Given the description of an element on the screen output the (x, y) to click on. 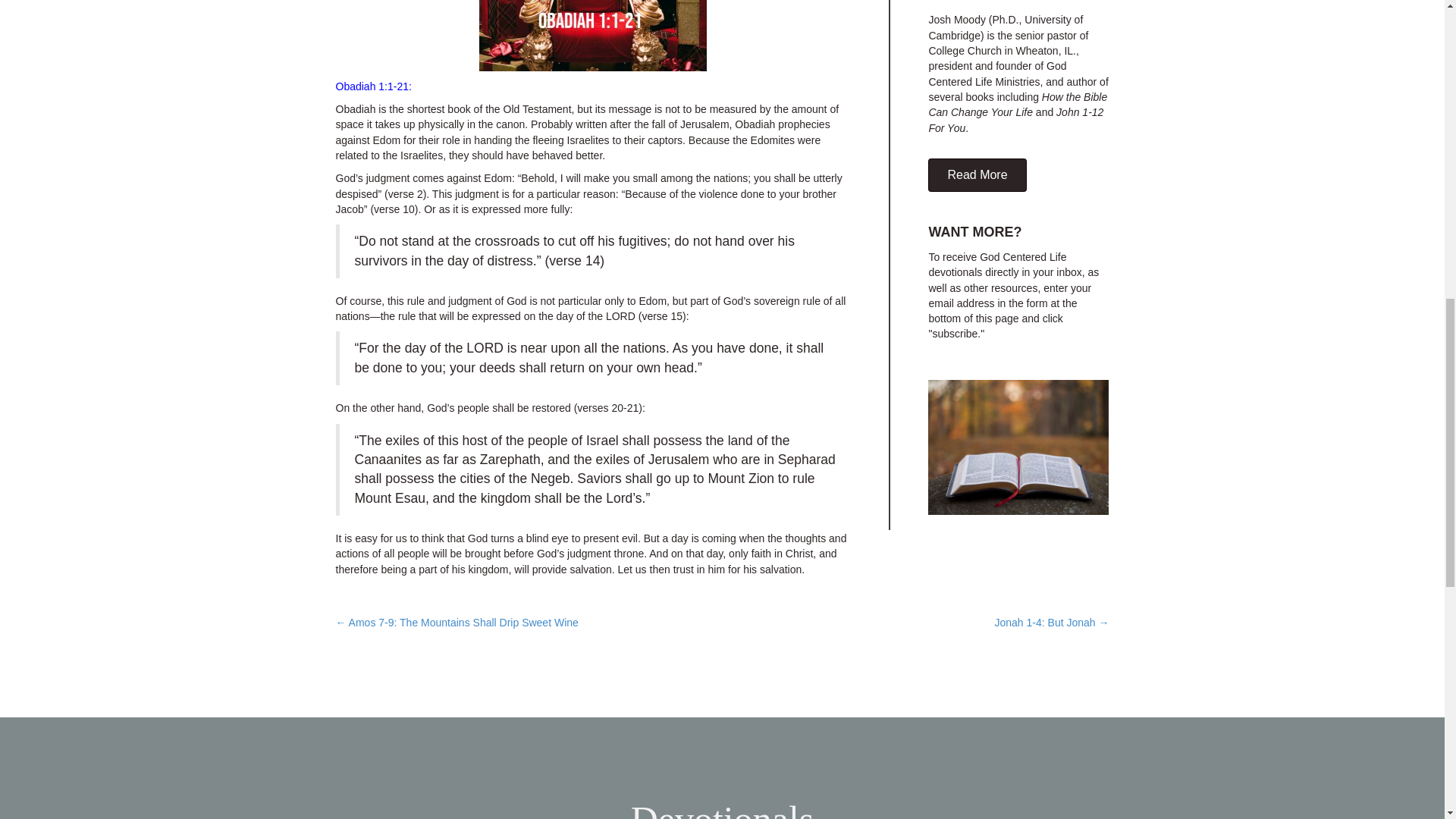
Read More (977, 174)
Obadiah 1:1-21 (371, 86)
aaron-burden-9zsHNt5OpqE-unsplash (1018, 447)
